Given the description of an element on the screen output the (x, y) to click on. 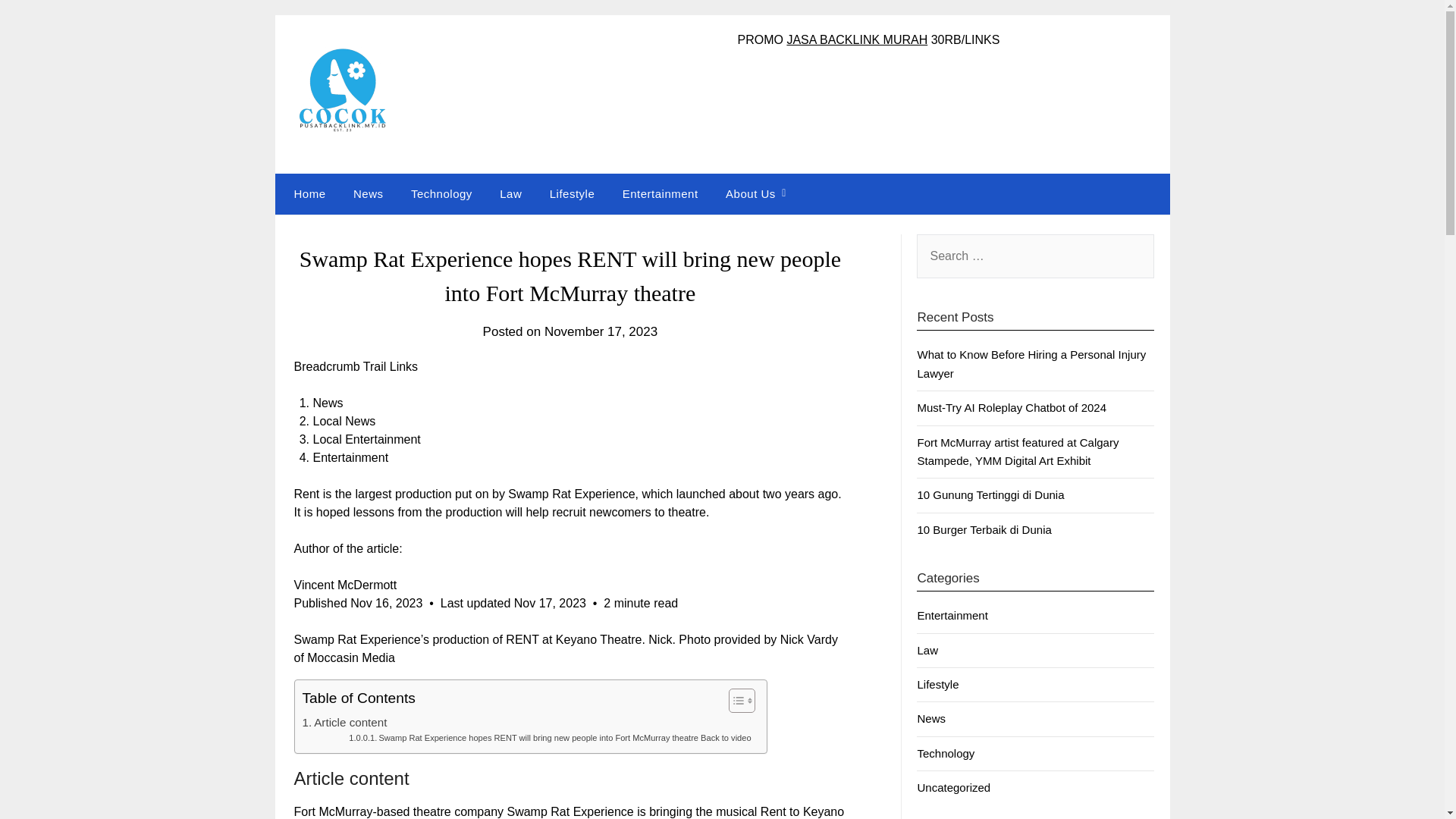
Entertainment (952, 615)
Lifestyle (572, 193)
Article content (344, 722)
News (930, 717)
What to Know Before Hiring a Personal Injury Lawyer (1031, 363)
JASA BACKLINK MURAH (856, 39)
Technology (441, 193)
Article content (344, 722)
About Us (750, 193)
